Given the description of an element on the screen output the (x, y) to click on. 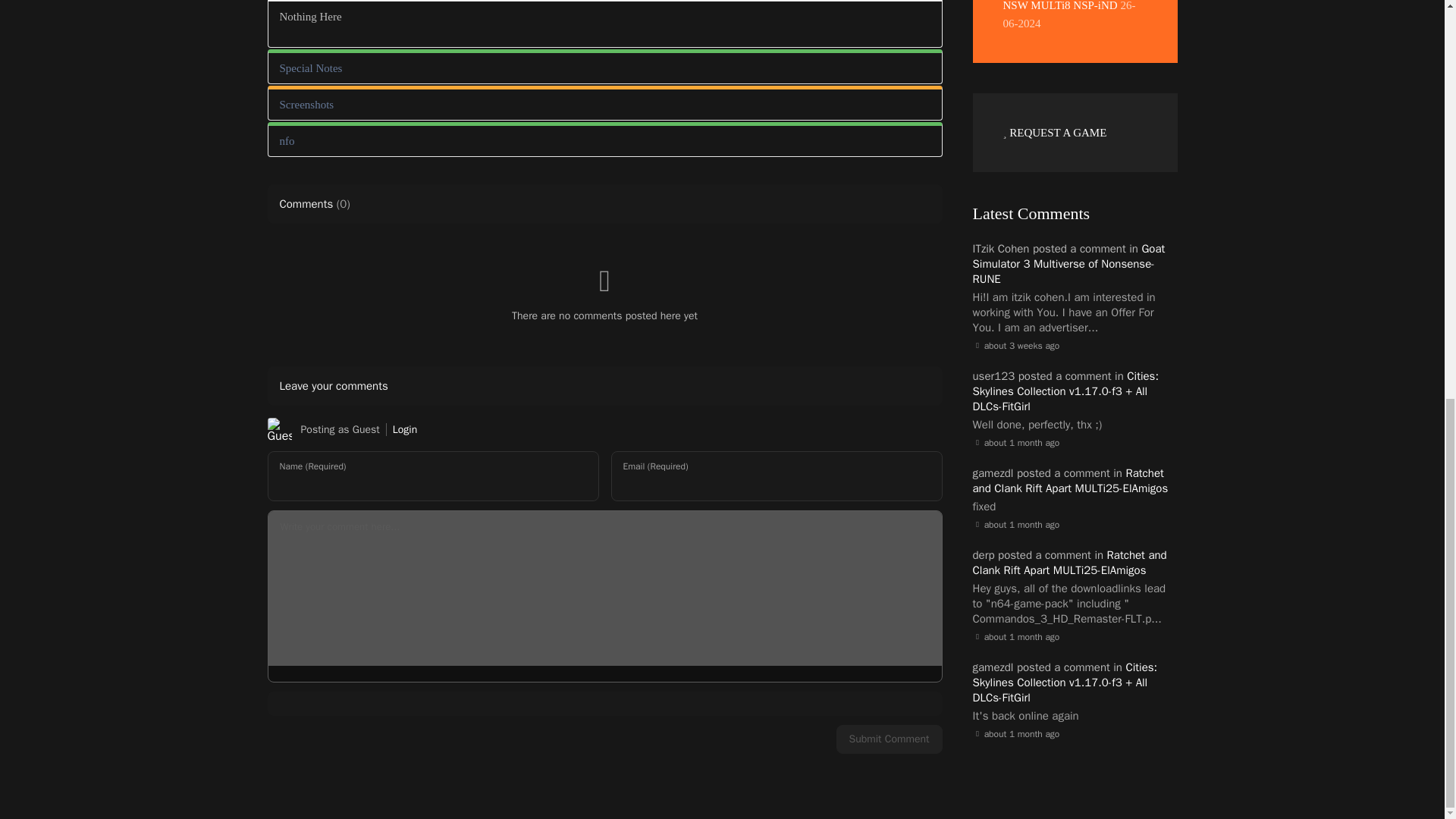
Login (404, 429)
Permanent Link (1015, 524)
Submit Comment (888, 738)
Permanent Link (1015, 734)
Permanent Link (1015, 345)
Permanent Link (1015, 442)
Permanent Link (1015, 636)
